Given the description of an element on the screen output the (x, y) to click on. 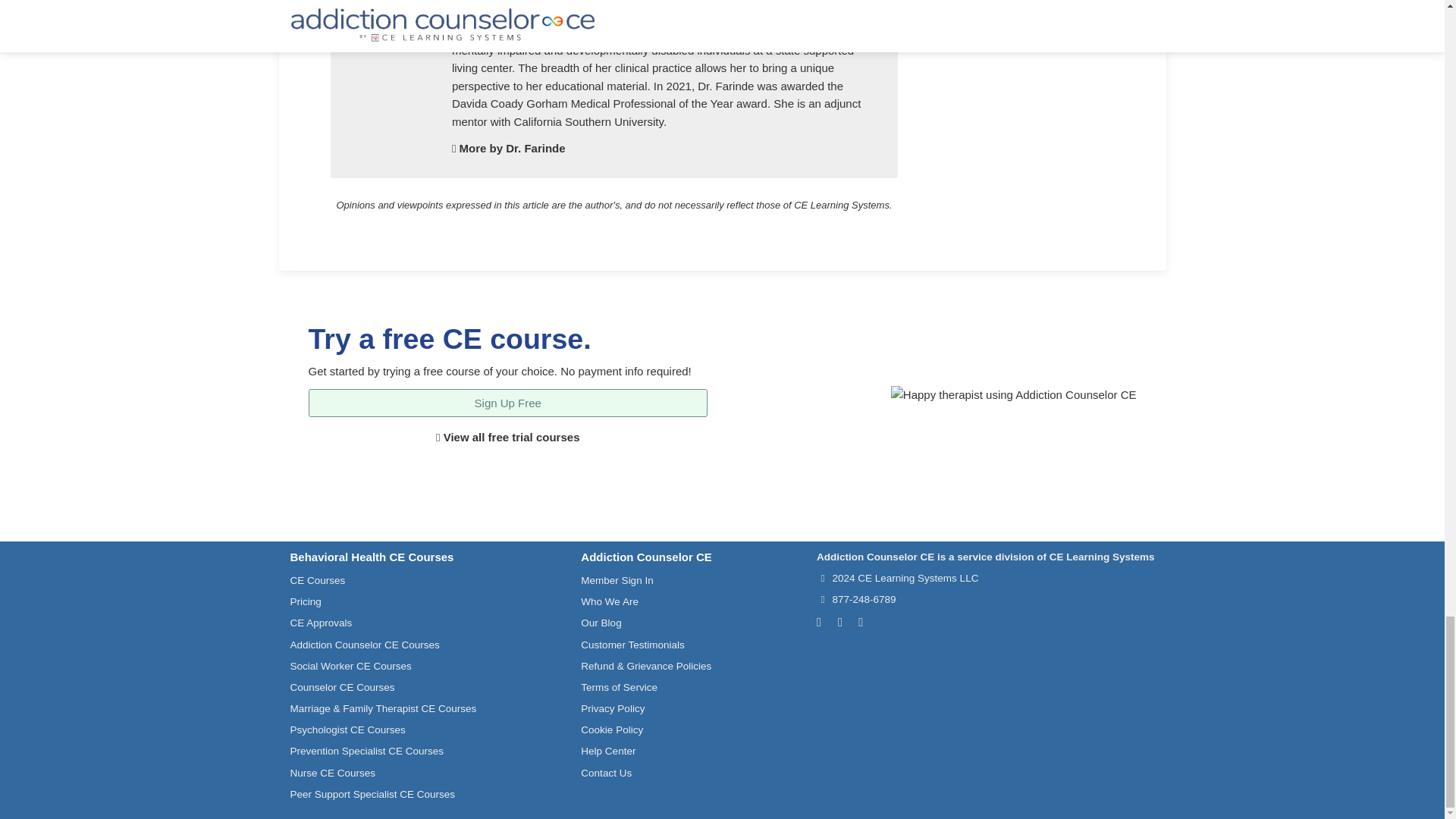
Social Worker CE Courses (349, 665)
View all free trial courses (507, 436)
Prevention Specialist CE Courses (366, 750)
Terms of Service (619, 686)
CE Approvals (320, 622)
Addiction Counselor CE Courses (364, 644)
Psychologist CE Courses (346, 729)
CE Courses (317, 580)
Cookie Policy (611, 729)
Our Privacy Policy (612, 708)
